Given the description of an element on the screen output the (x, y) to click on. 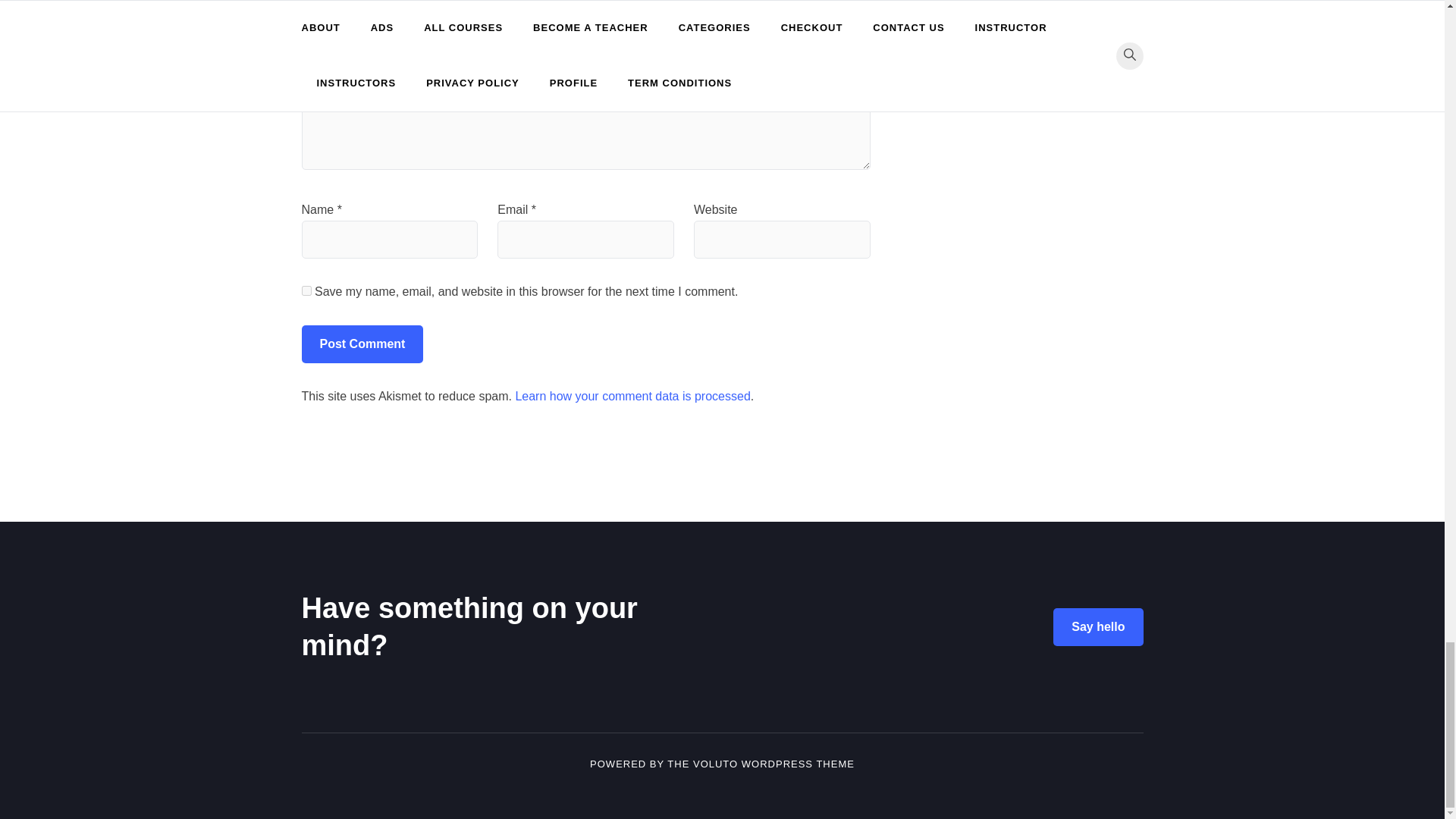
Post Comment (362, 344)
yes (306, 290)
